Given the description of an element on the screen output the (x, y) to click on. 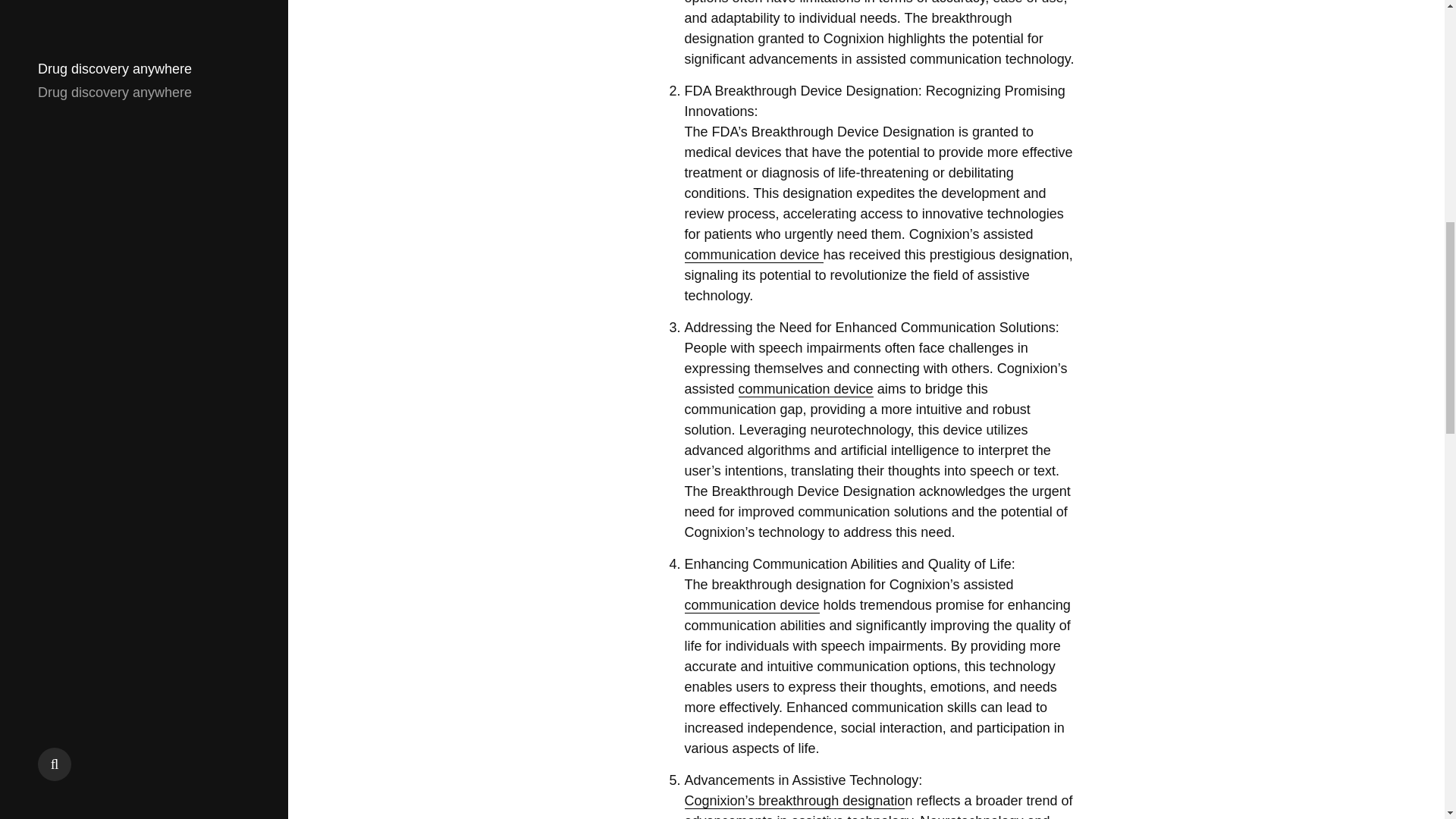
communication device (805, 389)
communication device (753, 254)
communication device (751, 605)
